Given the description of an element on the screen output the (x, y) to click on. 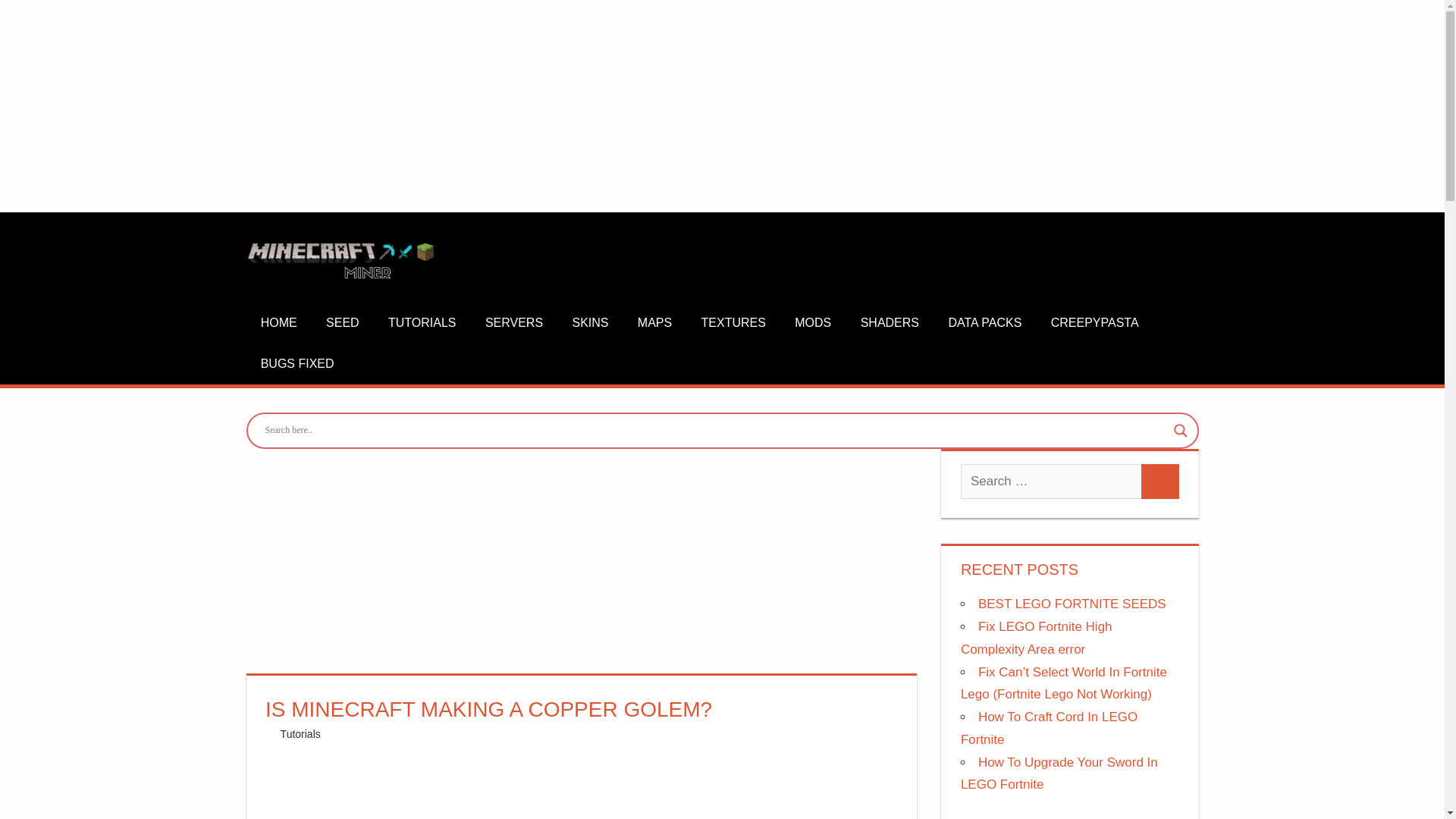
8:20 am (318, 734)
HOME (278, 323)
Tutorials (300, 734)
DATA PACKS (984, 323)
How To Upgrade Your Sword In LEGO Fortnite (1058, 773)
SERVERS (513, 323)
CREEPYPASTA (1094, 323)
MAPS (655, 323)
Leave a comment (392, 734)
SHADERS (889, 323)
View all posts by NikoKostaZapater (323, 734)
NikoKostaZapater (323, 734)
Fix LEGO Fortnite High Complexity Area error (1036, 637)
MODS (812, 323)
TEXTURES (732, 323)
